Given the description of an element on the screen output the (x, y) to click on. 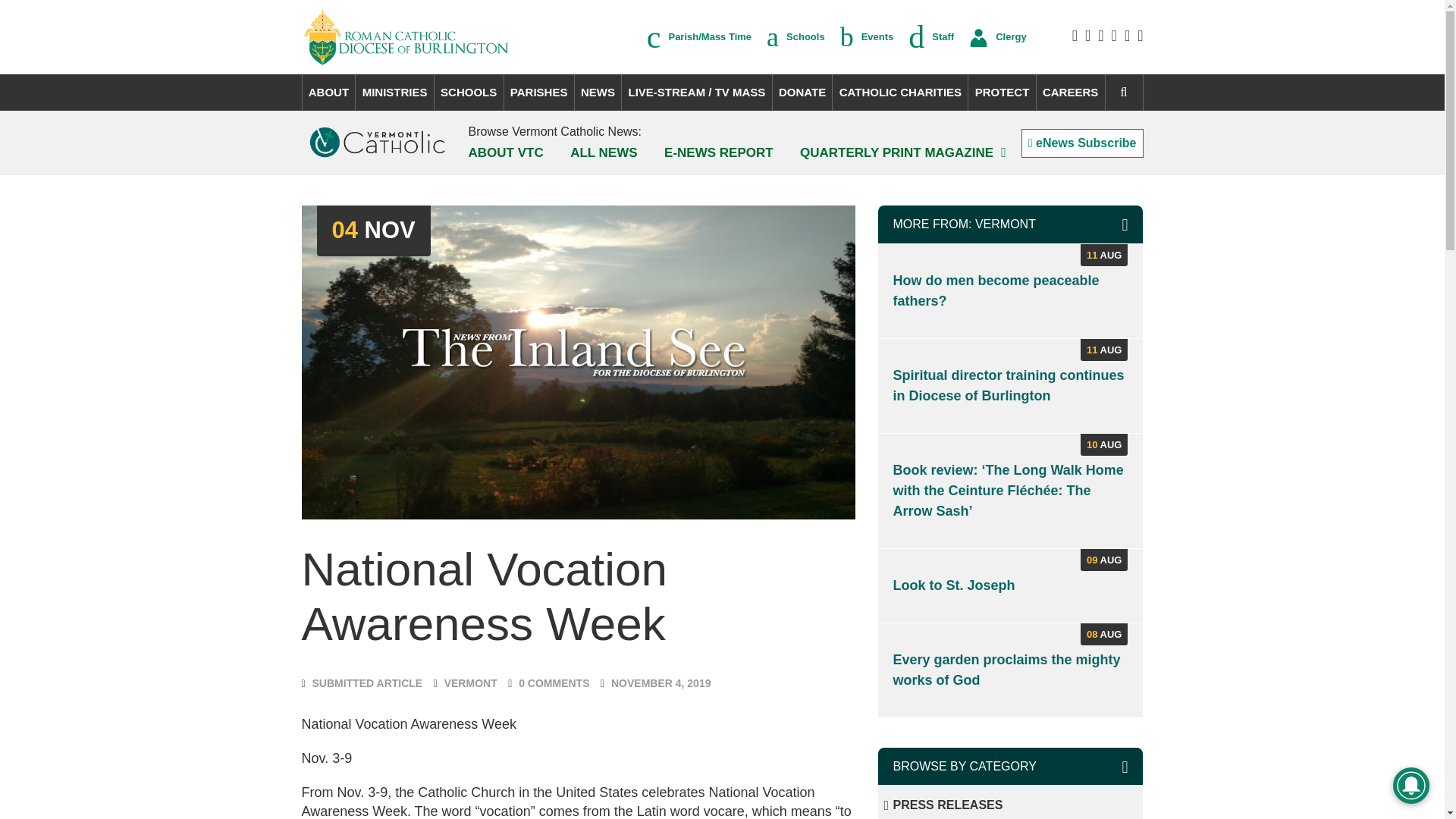
ABOUT (328, 92)
Events (866, 36)
Schools (796, 36)
Staff (930, 36)
Go to Roman Catholic Diocese of Burlington homepage (406, 36)
Clergy (997, 36)
